Given the description of an element on the screen output the (x, y) to click on. 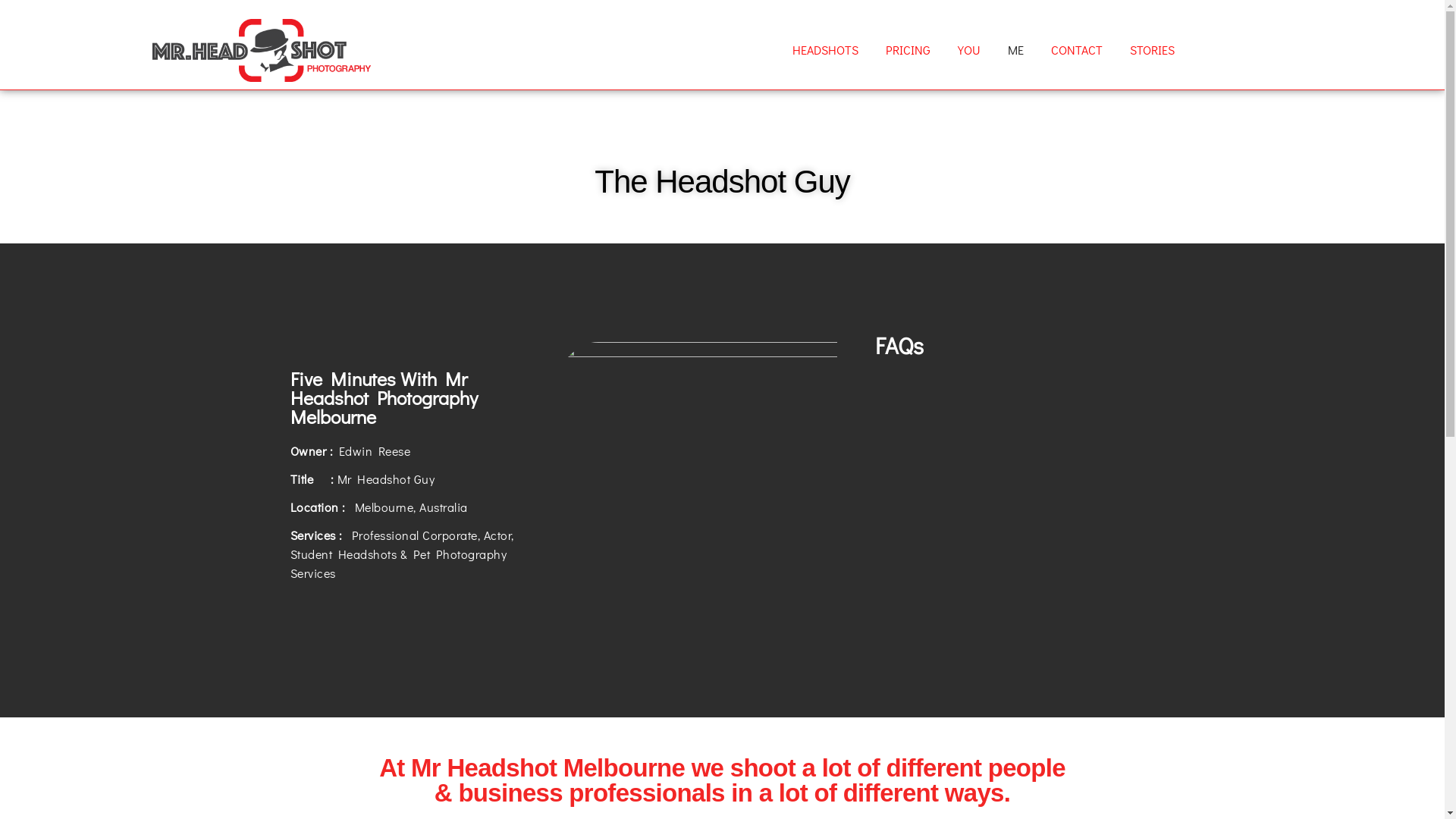
STORIES Element type: text (1152, 49)
CONTACT Element type: text (1076, 49)
PRICING Element type: text (908, 49)
ME Element type: text (1015, 49)
YOU Element type: text (969, 49)
HEADSHOTS Element type: text (825, 49)
